Given the description of an element on the screen output the (x, y) to click on. 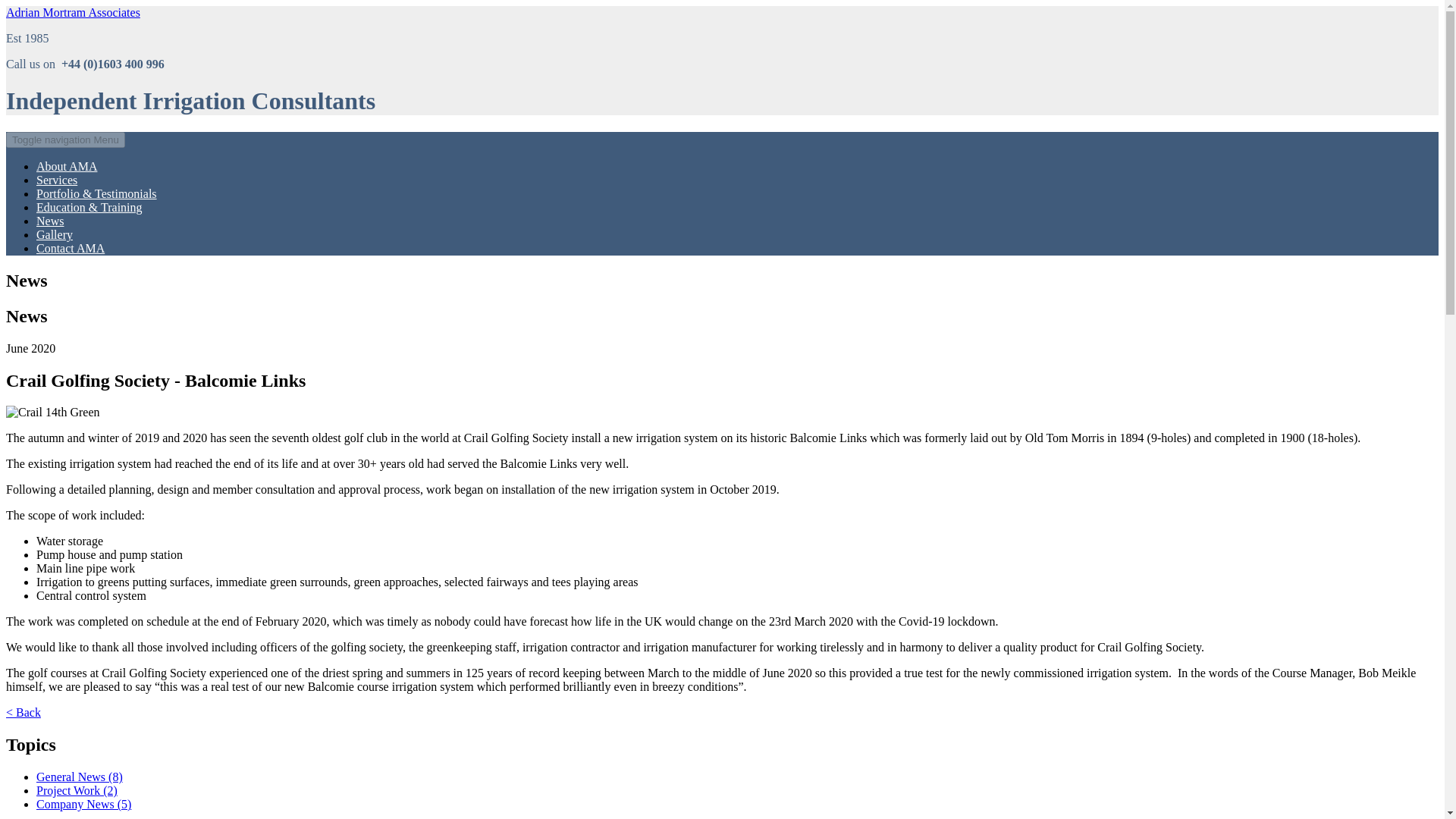
Adrian Mortram Associates (72, 11)
Gallery (54, 234)
Toggle navigation Menu (65, 139)
About AMA (66, 165)
Services (56, 179)
Contact AMA (70, 247)
News (50, 220)
